Given the description of an element on the screen output the (x, y) to click on. 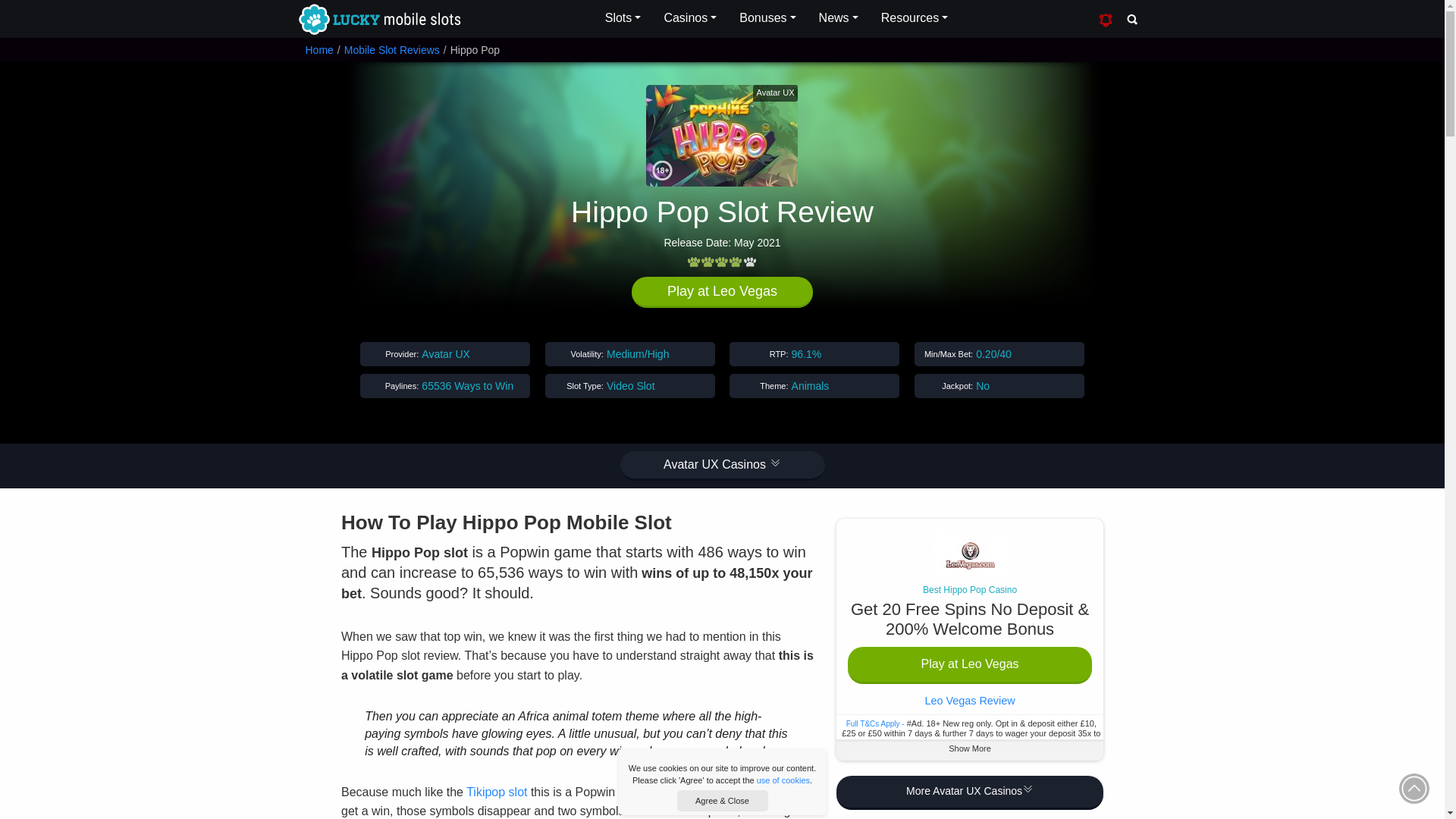
Bonuses (767, 18)
Cookies Policy (783, 779)
More Avatar UX Casinos (969, 792)
News (838, 18)
Home (318, 49)
Avatar UX Casinos (722, 465)
Back to Top (1414, 788)
Casinos (690, 18)
Mobile Slot Reviews (391, 49)
Lucky Mobile Slots (378, 20)
Resources (914, 18)
Slots (623, 18)
